Given the description of an element on the screen output the (x, y) to click on. 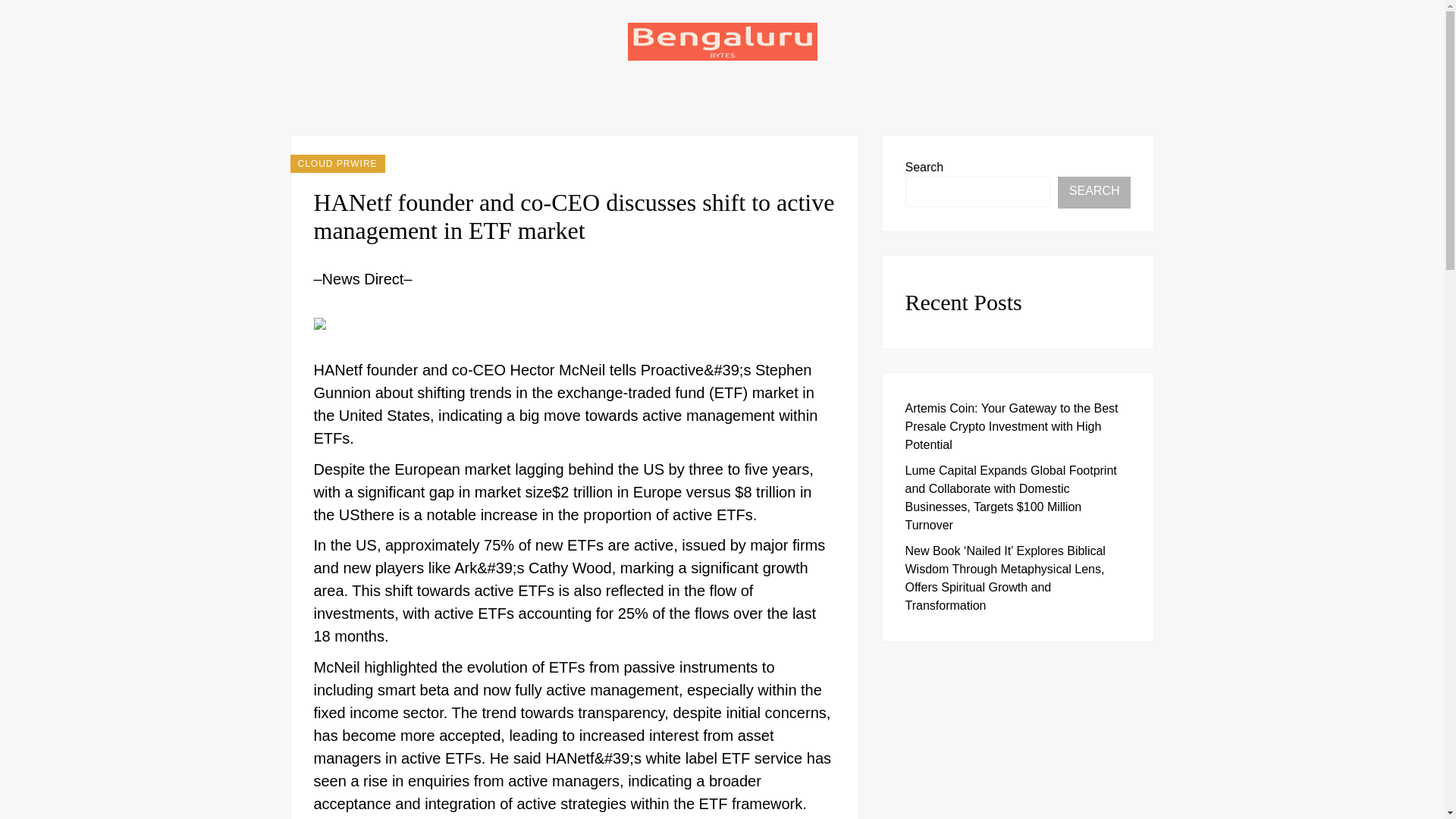
SEARCH (1094, 192)
CLOUD PRWIRE (336, 163)
